Given the description of an element on the screen output the (x, y) to click on. 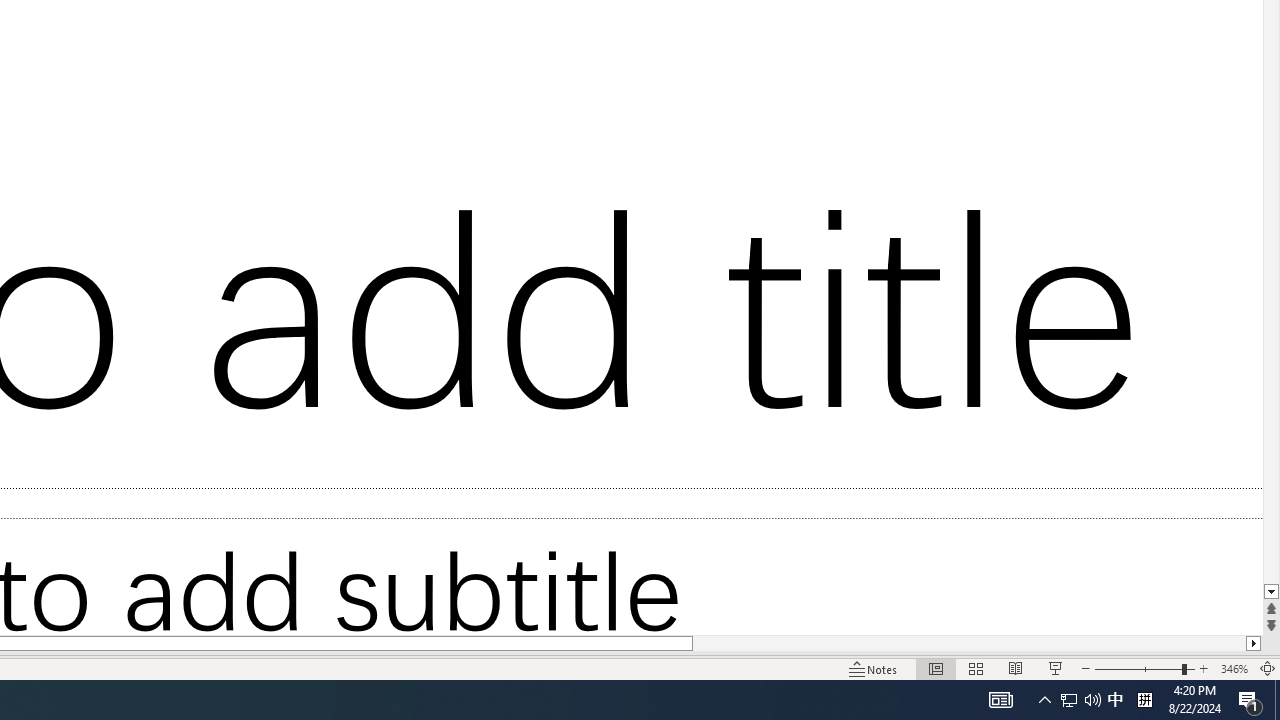
Zoom 346% (1234, 668)
